Given the description of an element on the screen output the (x, y) to click on. 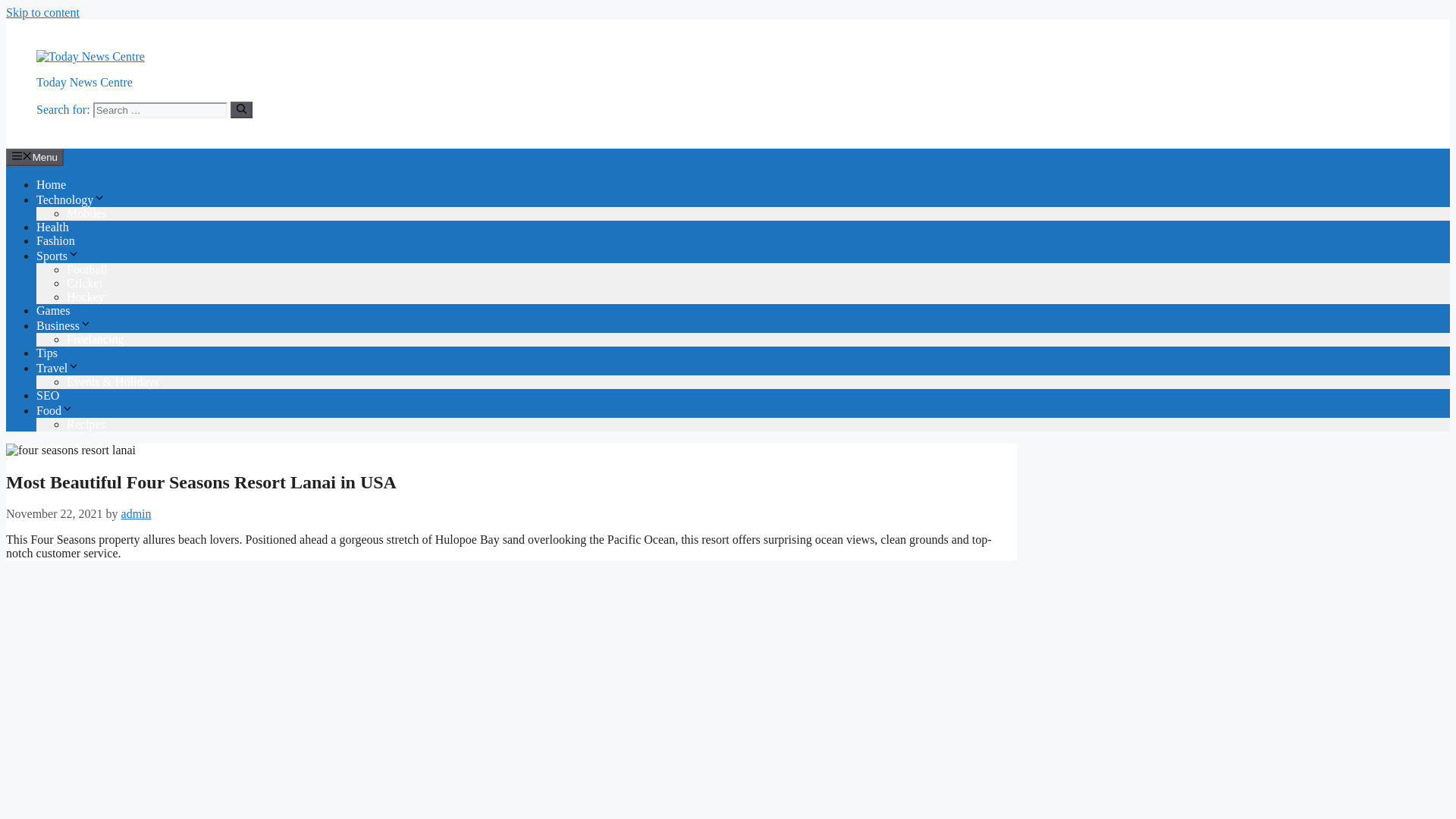
Business (63, 369)
Freelancing (94, 382)
Menu (34, 200)
Today News Centre (84, 125)
Mobiles (86, 256)
Cricket (83, 327)
Home (50, 228)
Football (86, 313)
